Given the description of an element on the screen output the (x, y) to click on. 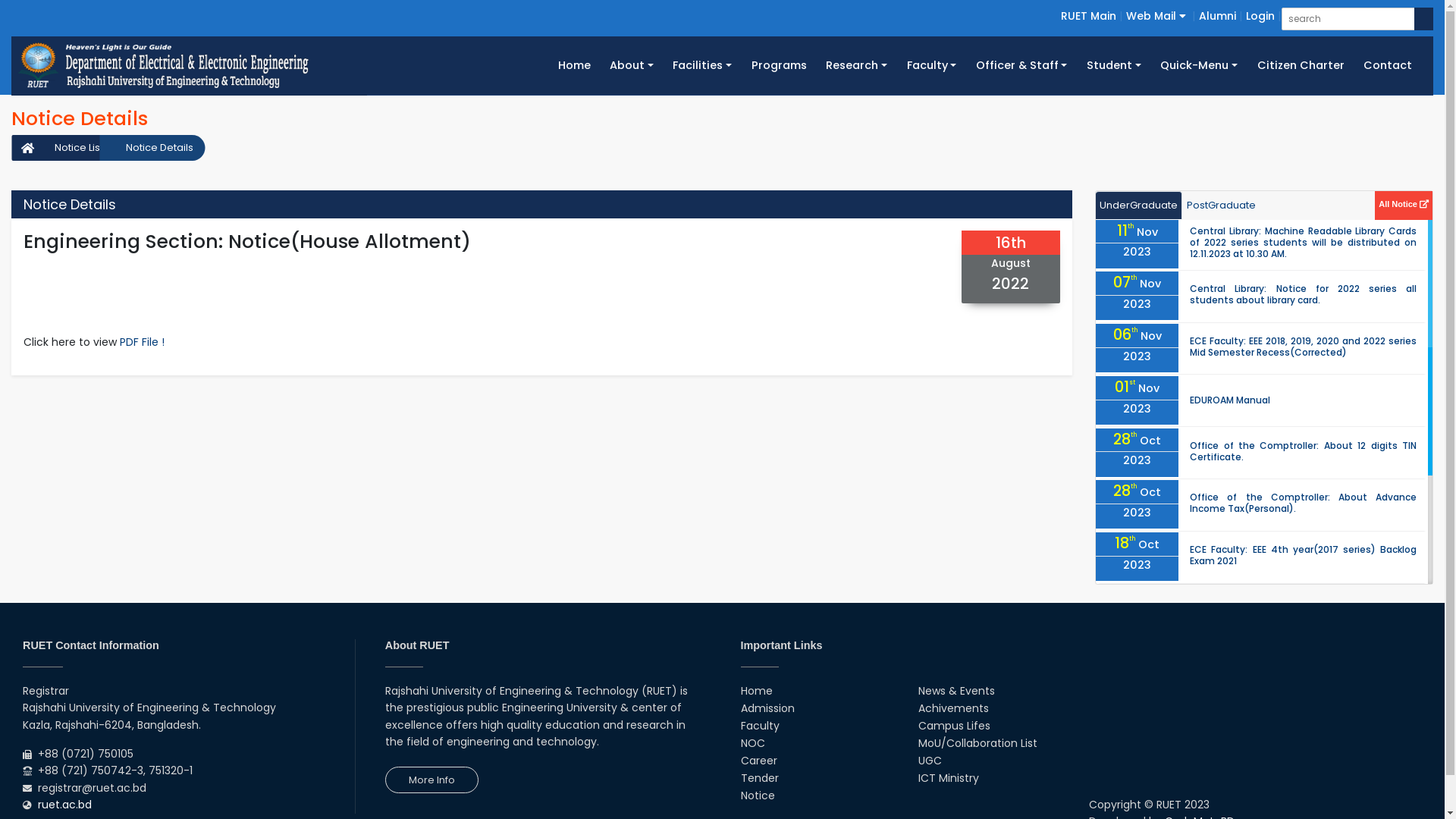
Home
(Current) Element type: text (574, 65)
Tender Element type: text (759, 777)
Web Mail Element type: text (1156, 15)
Officer & Staff Element type: text (1021, 65)
Programs Element type: text (778, 65)
Notice Details Element type: text (151, 147)
Notice Element type: text (757, 795)
EDUROAM Manual Element type: text (1229, 399)
Campus Lifes Element type: text (954, 725)
Faculty Element type: text (759, 725)
Contact Element type: text (1387, 65)
ECE Faculty: EEE 4th year(2017 series) Backlog Exam 2021 Element type: text (1302, 554)
All Notice Element type: text (1403, 202)
About Element type: text (630, 65)
UGC Element type: text (929, 760)
MoU/Collaboration List Element type: text (977, 742)
Citizen Charter Element type: text (1300, 65)
Research Element type: text (855, 65)
Career Element type: text (758, 760)
Alumni Element type: text (1217, 15)
Admission Element type: text (766, 707)
PostGraduate Element type: text (1221, 205)
Quick-Menu Element type: text (1199, 65)
Security Section: Notice for security purpose. Element type: text (1294, 608)
Student Element type: text (1113, 65)
Home Element type: text (755, 690)
ruet.ac.bd Element type: text (64, 804)
Facilities Element type: text (702, 65)
ICT Ministry Element type: text (948, 777)
Login Element type: text (1259, 15)
Notice List Element type: text (71, 147)
Faculty Element type: text (931, 65)
UnderGraduate Element type: text (1138, 205)
Achivements Element type: text (953, 707)
NOC Element type: text (752, 742)
PDF File ! Element type: text (141, 341)
RUET Main Element type: text (1088, 15)
More Info Element type: text (431, 779)
News & Events Element type: text (956, 690)
Office of the Comptroller: About 12 digits TIN Certificate. Element type: text (1302, 450)
